Given the description of an element on the screen output the (x, y) to click on. 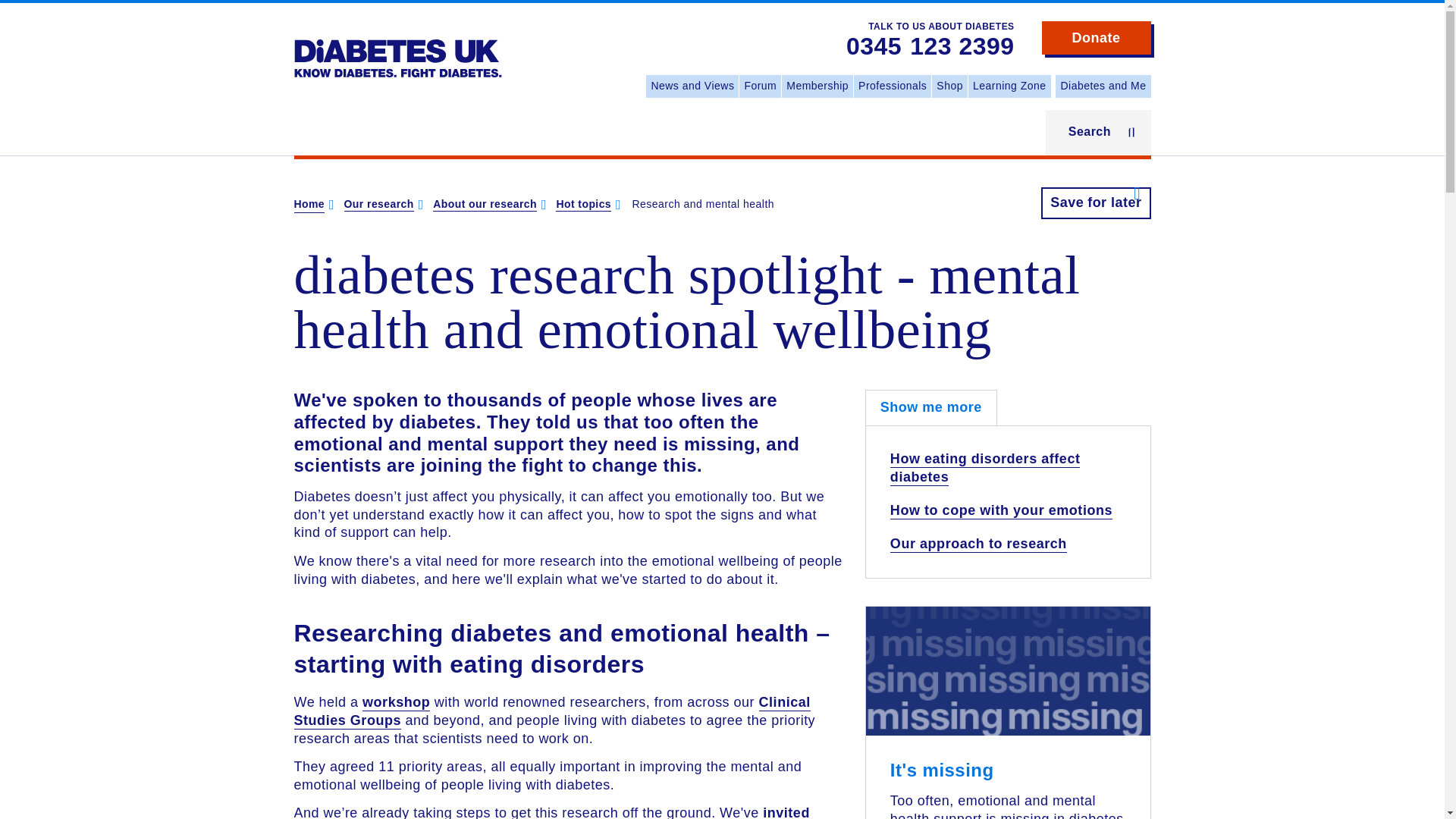
Clinical Studies Groups (552, 711)
Membership (817, 86)
Home (398, 47)
News and Views (692, 86)
Search (1098, 132)
It's missing CTA image (1008, 691)
Home (309, 204)
Diabetes and Me (1102, 86)
invited scientists to apply for funding (551, 812)
Forum (759, 86)
